Given the description of an element on the screen output the (x, y) to click on. 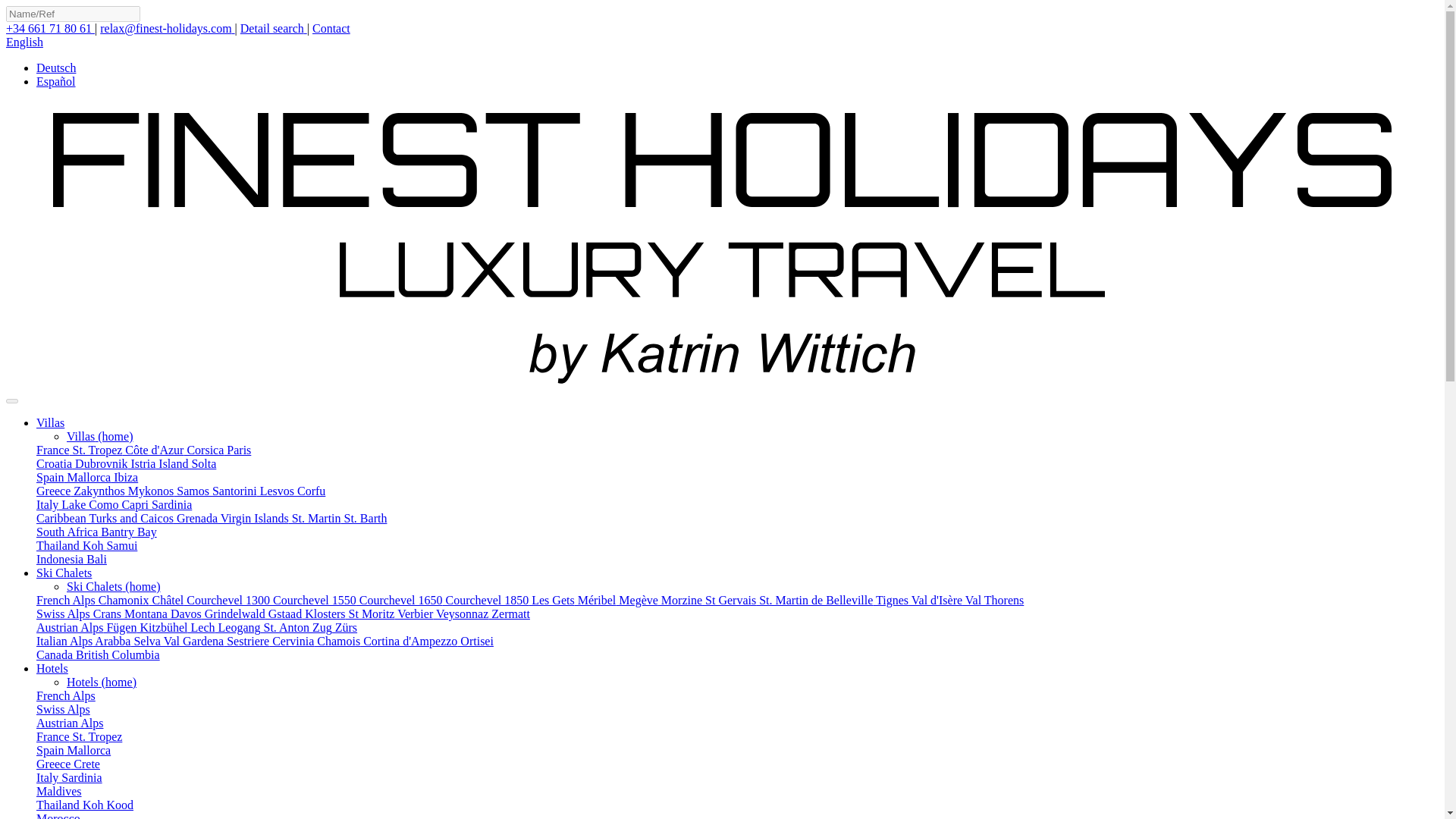
Lesvos (275, 490)
Villas (50, 422)
Ibiza (124, 477)
Zakynthos (97, 490)
Greece (52, 490)
Detail search (273, 28)
Deutsch (55, 67)
Virgin Islands (252, 517)
Paris (237, 449)
Lake Como (87, 504)
English (24, 42)
Istria (141, 463)
St. Tropez (95, 449)
Sardinia (170, 504)
St. Martin (314, 517)
